Given the description of an element on the screen output the (x, y) to click on. 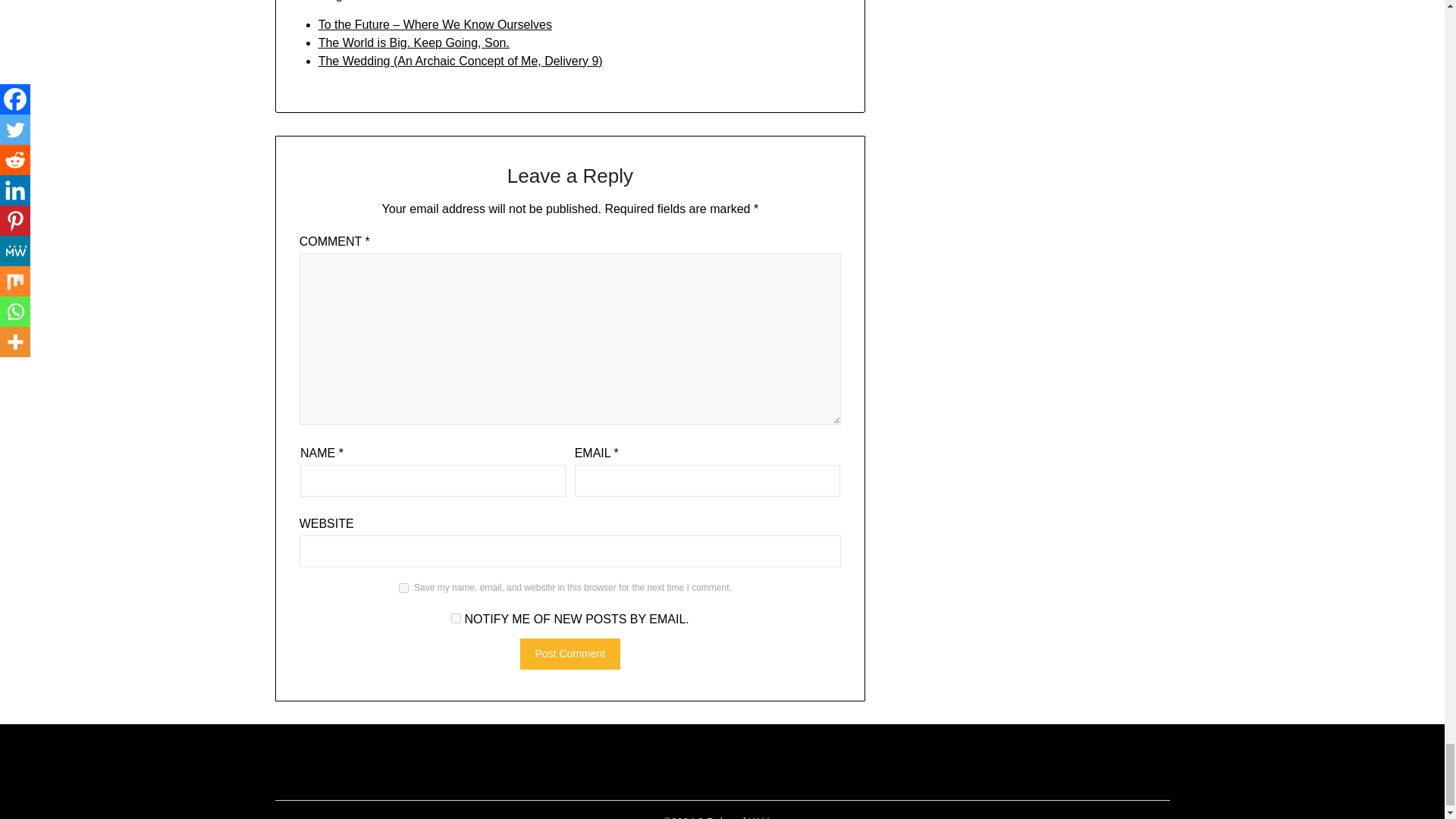
subscribe (456, 618)
yes (403, 587)
Post Comment (570, 653)
